Given the description of an element on the screen output the (x, y) to click on. 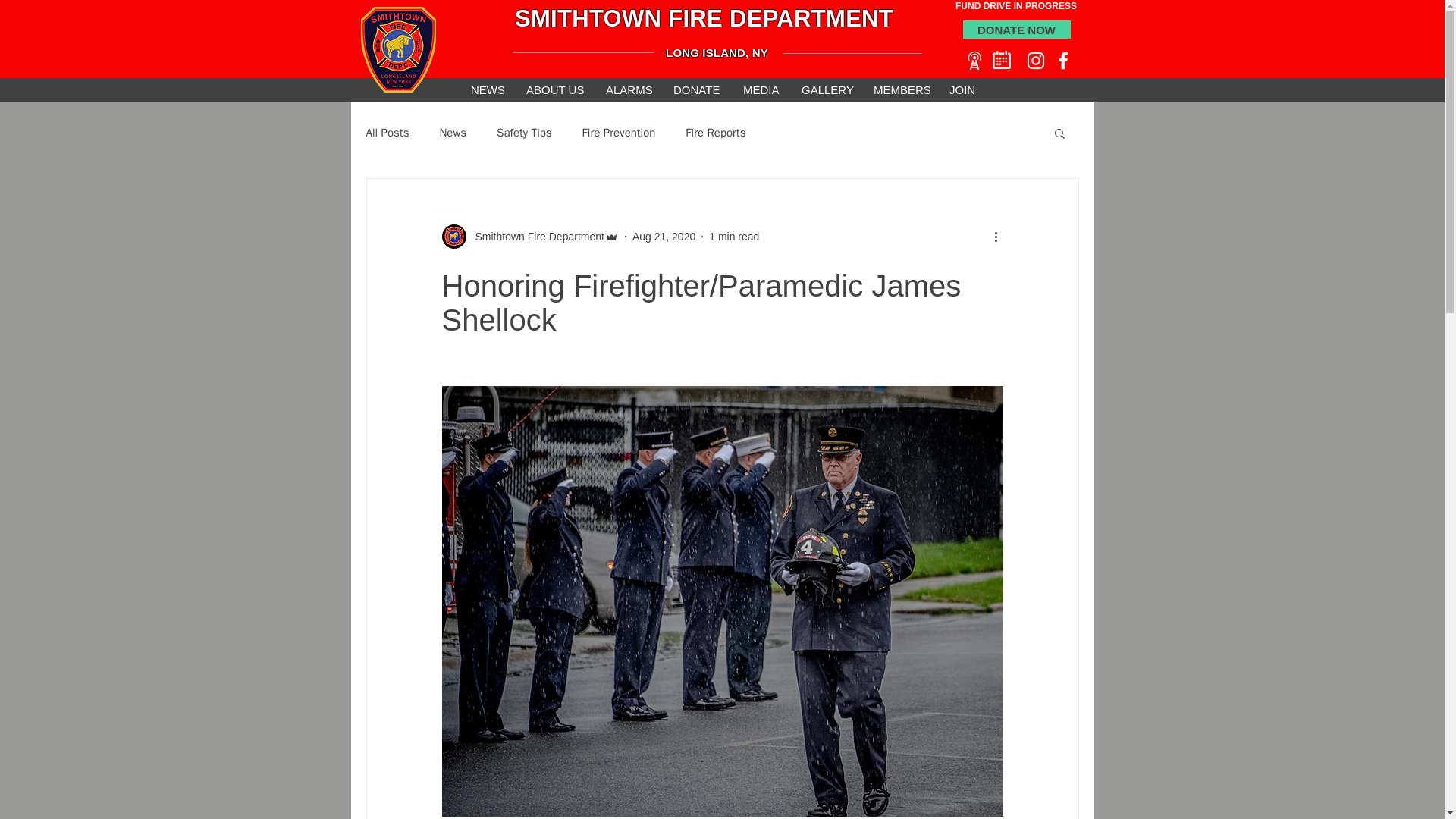
MEDIA (759, 89)
News (452, 133)
ABOUT US (553, 89)
Safety Tips (523, 133)
Fire Prevention (619, 133)
MEMBERS (899, 89)
All Posts (387, 133)
ALARMS (627, 89)
JOIN (961, 89)
Smithtown Fire Department (534, 236)
NEWS (485, 89)
1 min read (733, 236)
DONATE (695, 89)
DONATE NOW (1016, 29)
Fire Reports (715, 133)
